Given the description of an element on the screen output the (x, y) to click on. 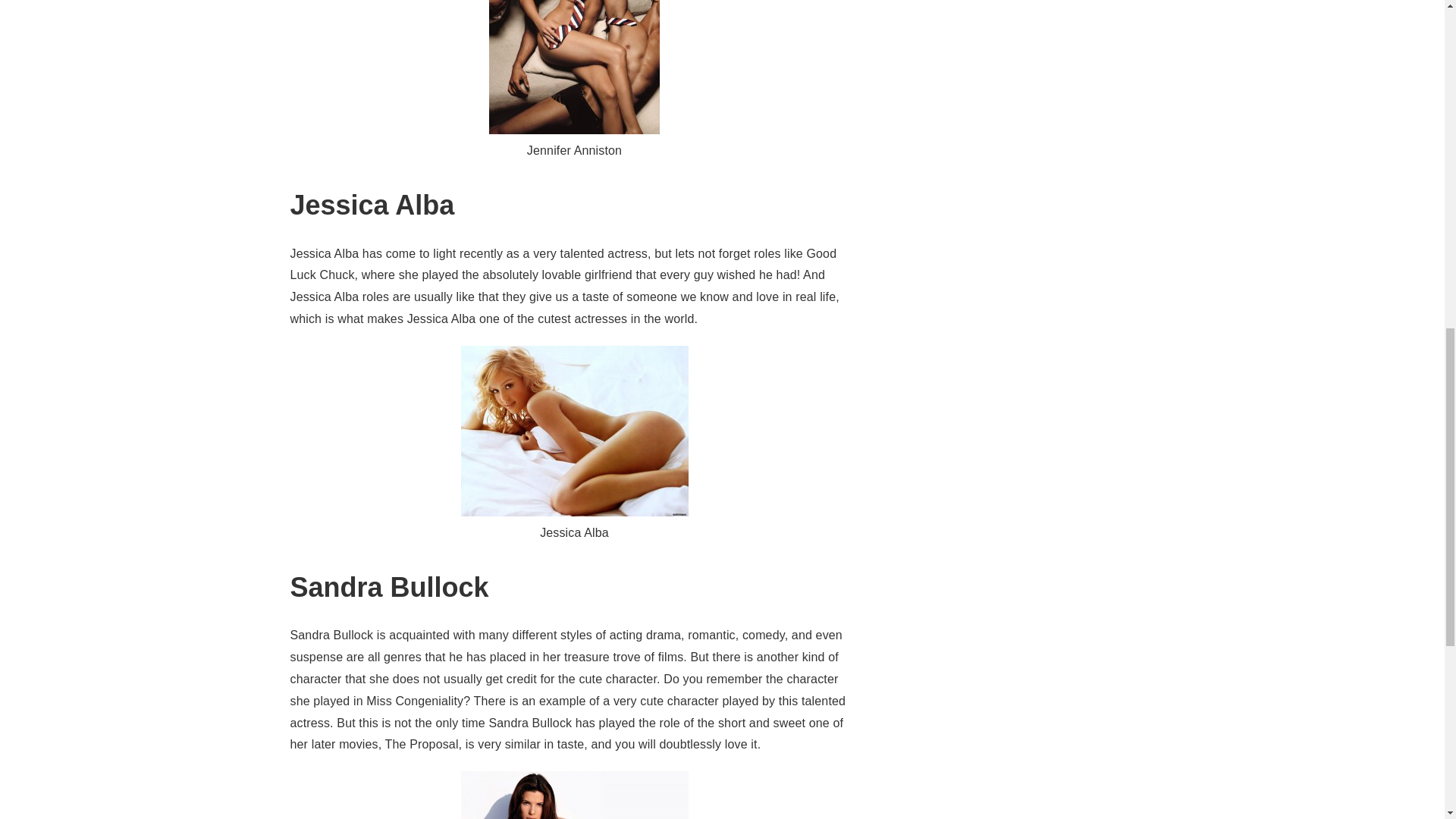
Jessica Alba (574, 430)
Sandra Bullock (574, 795)
Jennifer Anniston (574, 67)
